Given the description of an element on the screen output the (x, y) to click on. 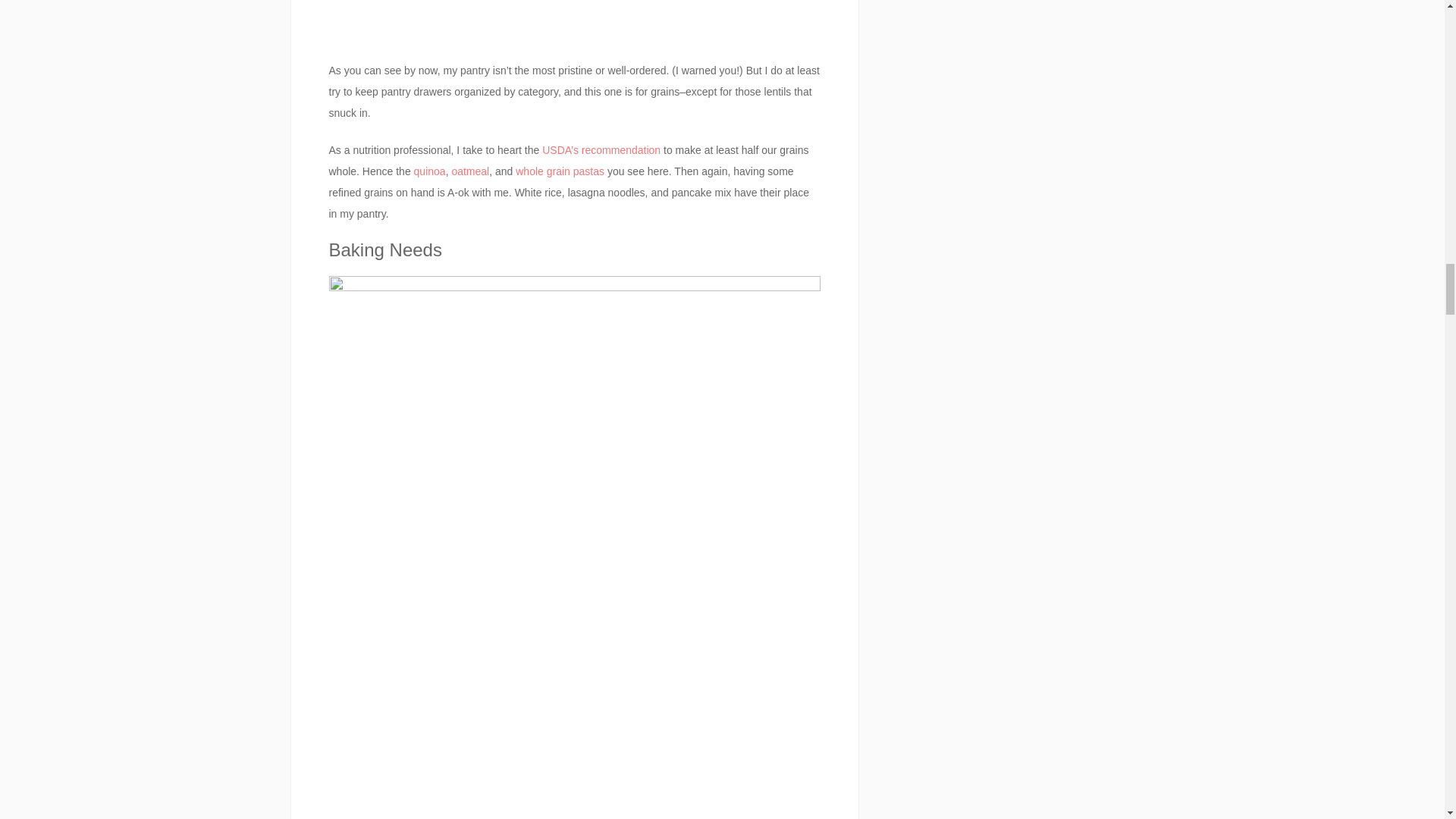
whole grain pastas (559, 171)
quinoa (429, 171)
oatmeal (470, 171)
